Given the description of an element on the screen output the (x, y) to click on. 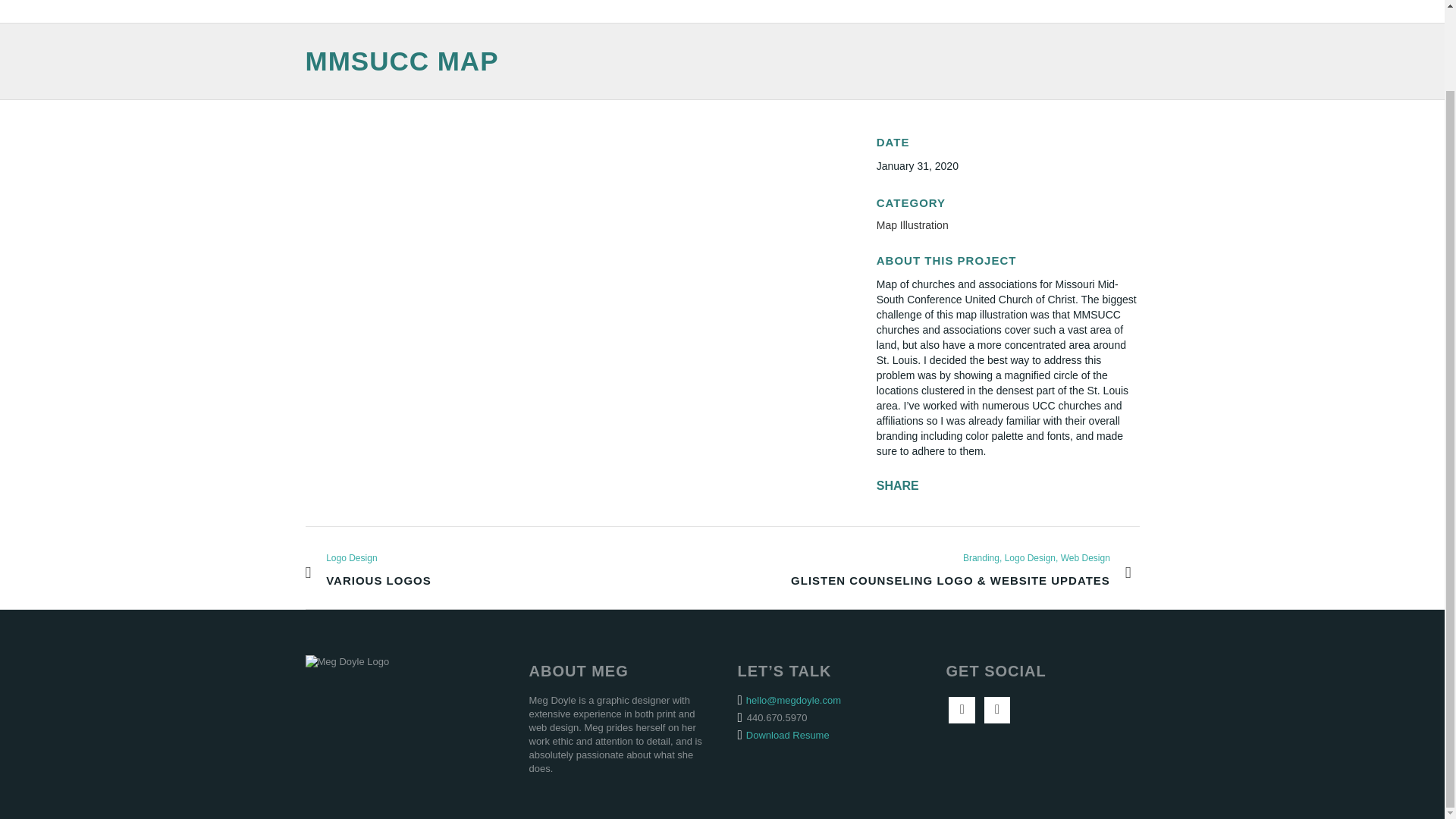
HOME (864, 11)
ABOUT (928, 11)
Download Resume (367, 572)
CONTACT (787, 735)
PORTFOLIO (1097, 11)
SHARE (1009, 11)
